Given the description of an element on the screen output the (x, y) to click on. 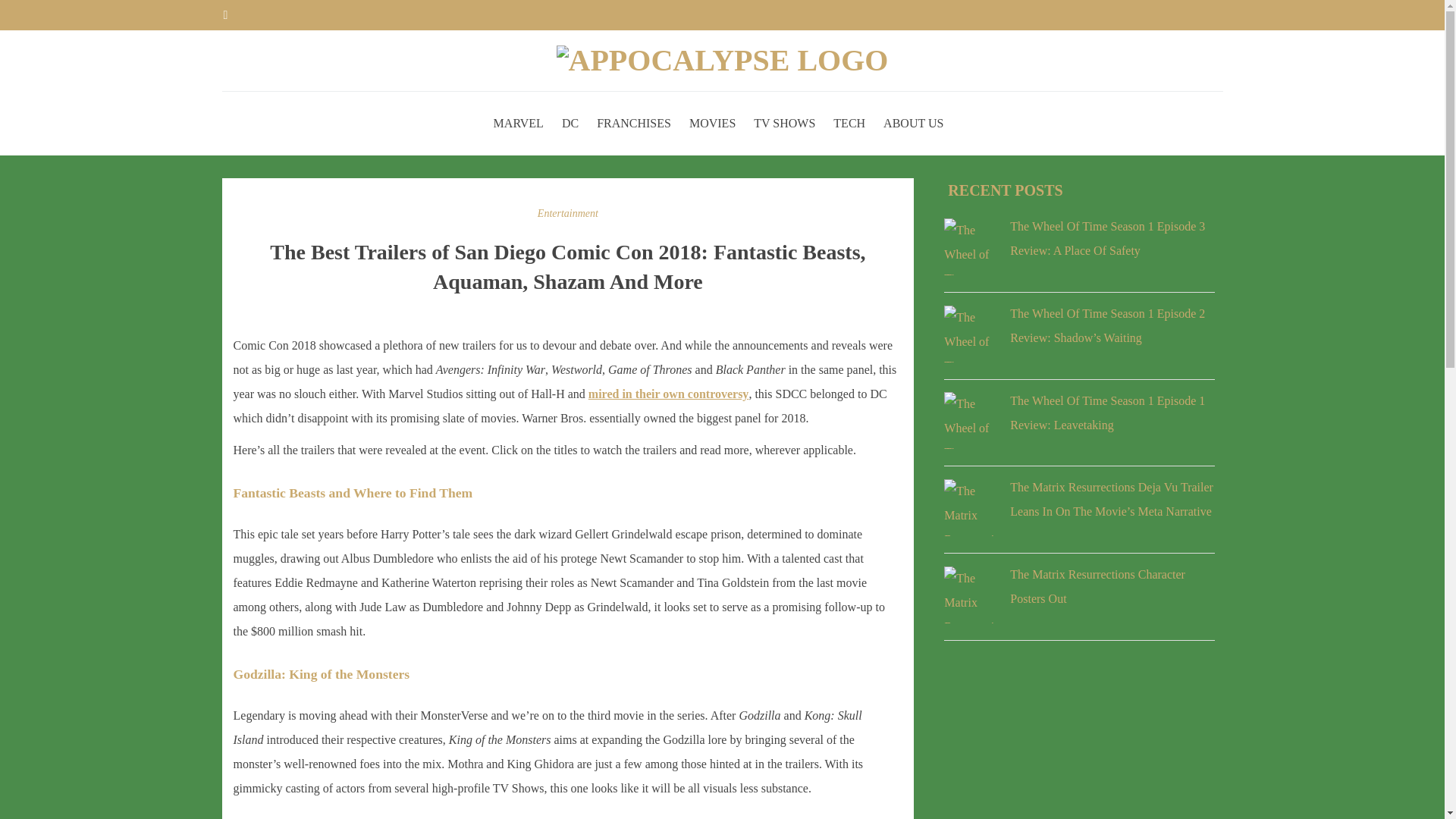
MARVEL (518, 123)
